Given the description of an element on the screen output the (x, y) to click on. 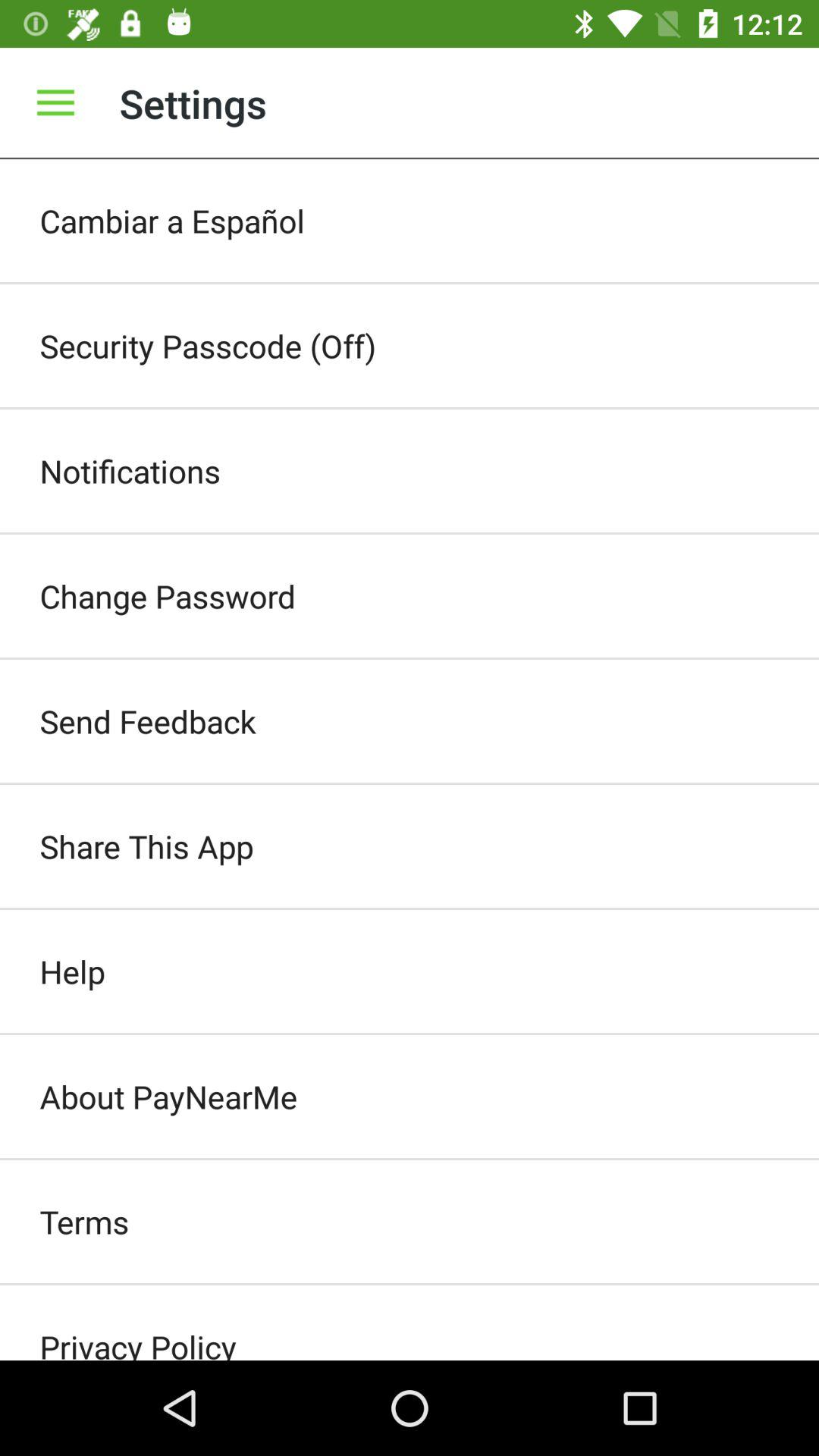
jump to share this app icon (409, 845)
